Given the description of an element on the screen output the (x, y) to click on. 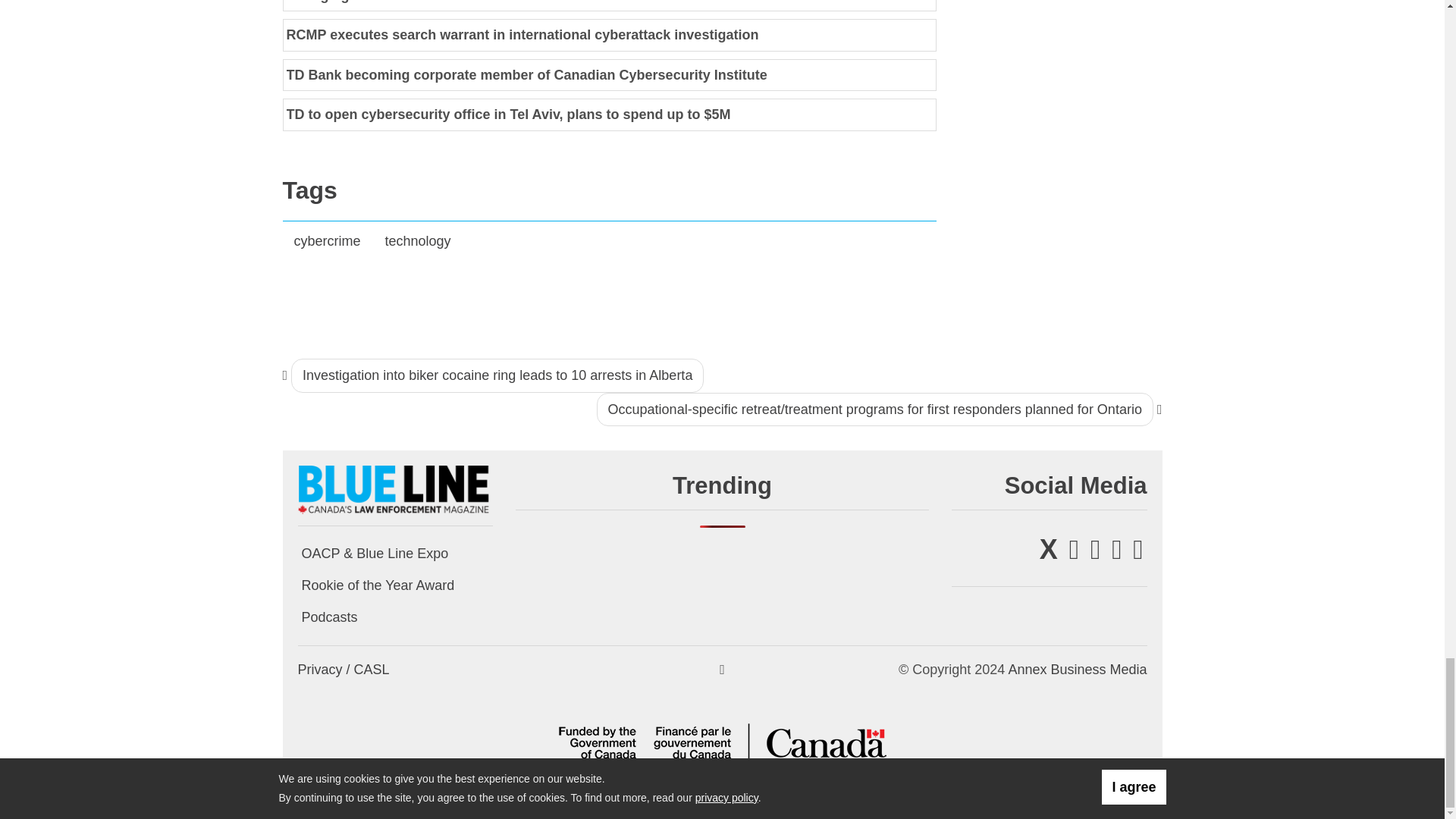
Blue Line (395, 488)
Annex Business Media (1077, 669)
